Given the description of an element on the screen output the (x, y) to click on. 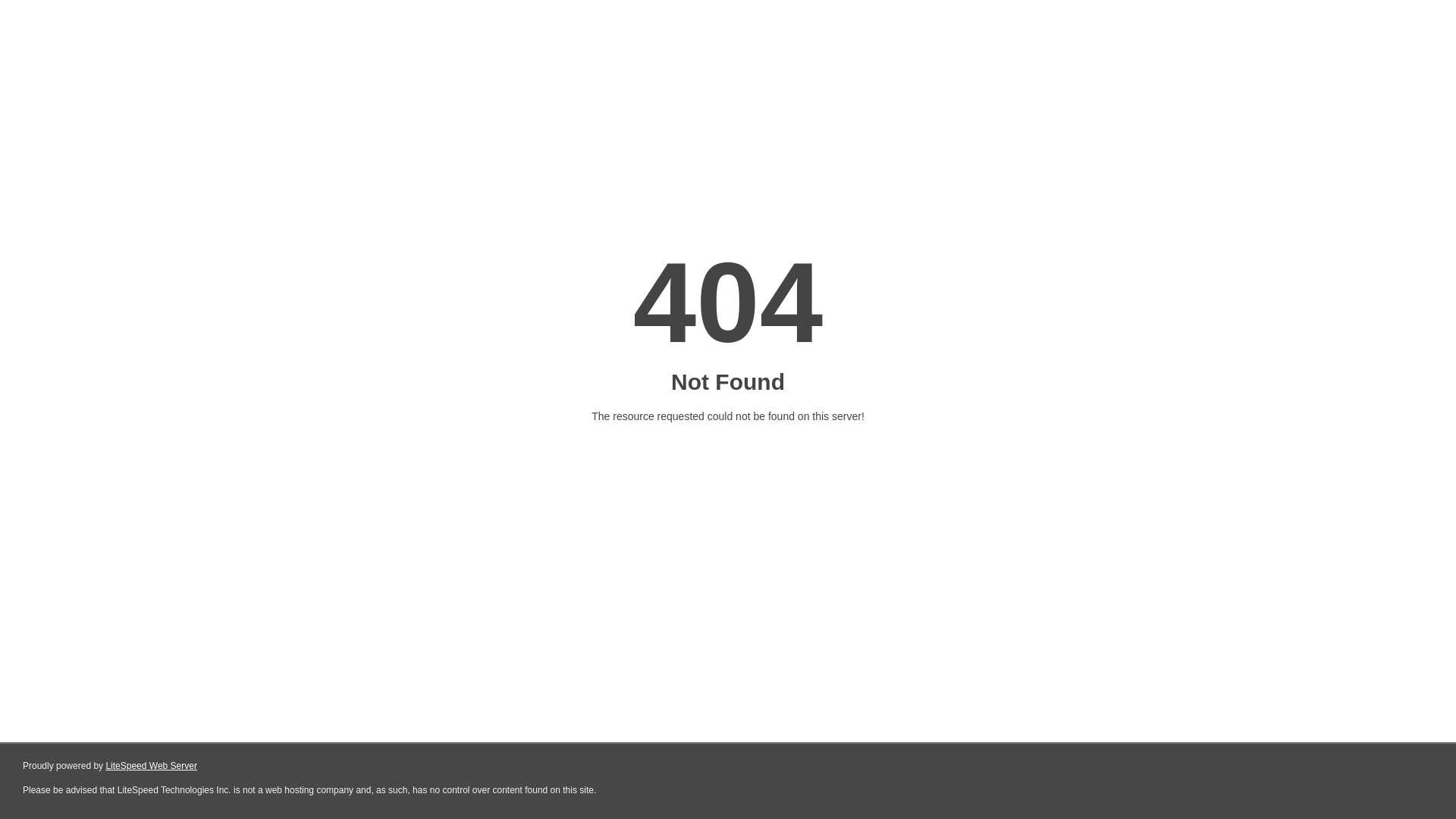
LiteSpeed Web Server Element type: text (151, 765)
